Given the description of an element on the screen output the (x, y) to click on. 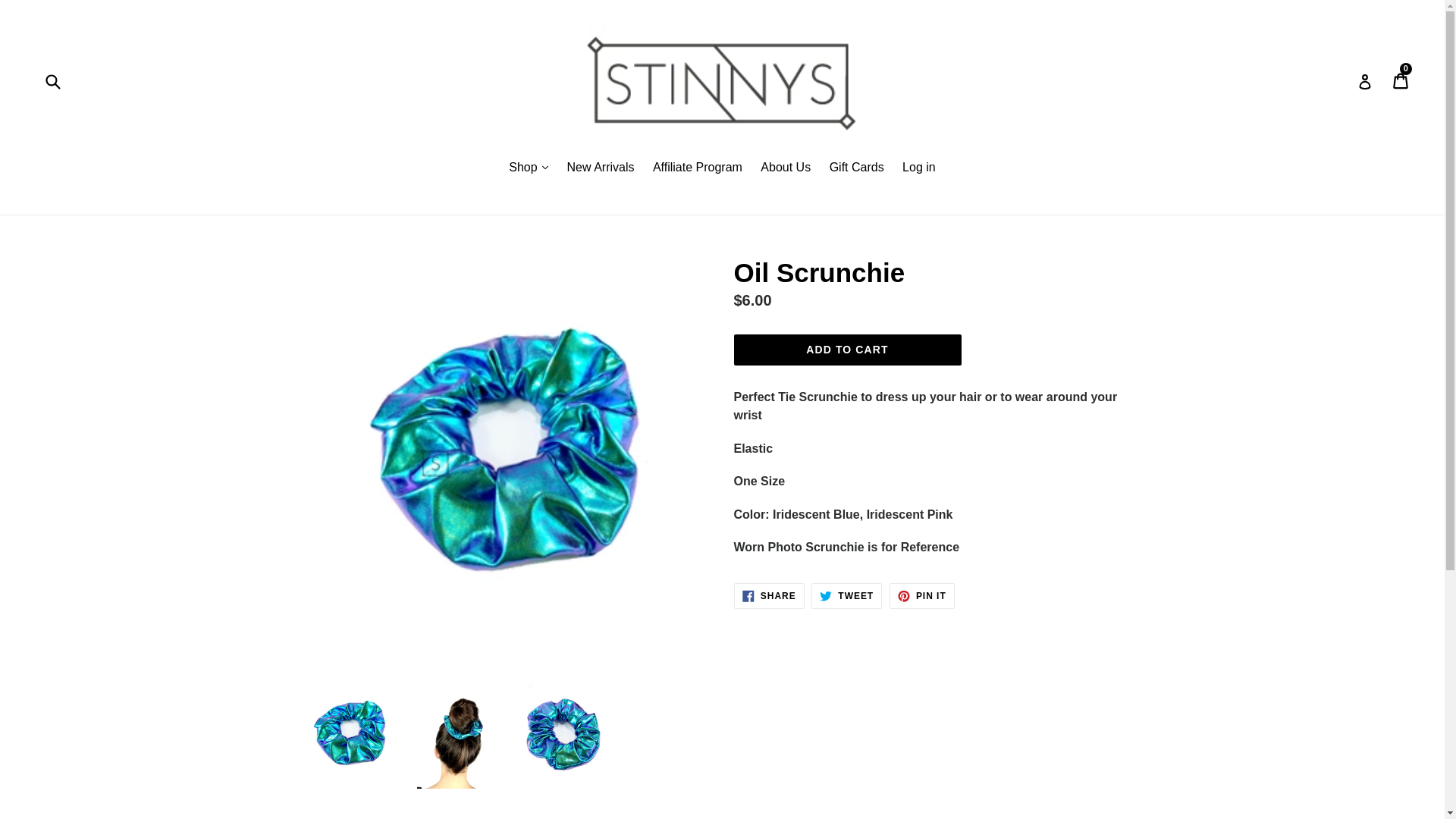
Share on Facebook (769, 596)
Pin on Pinterest (922, 596)
Tweet on Twitter (846, 596)
